Given the description of an element on the screen output the (x, y) to click on. 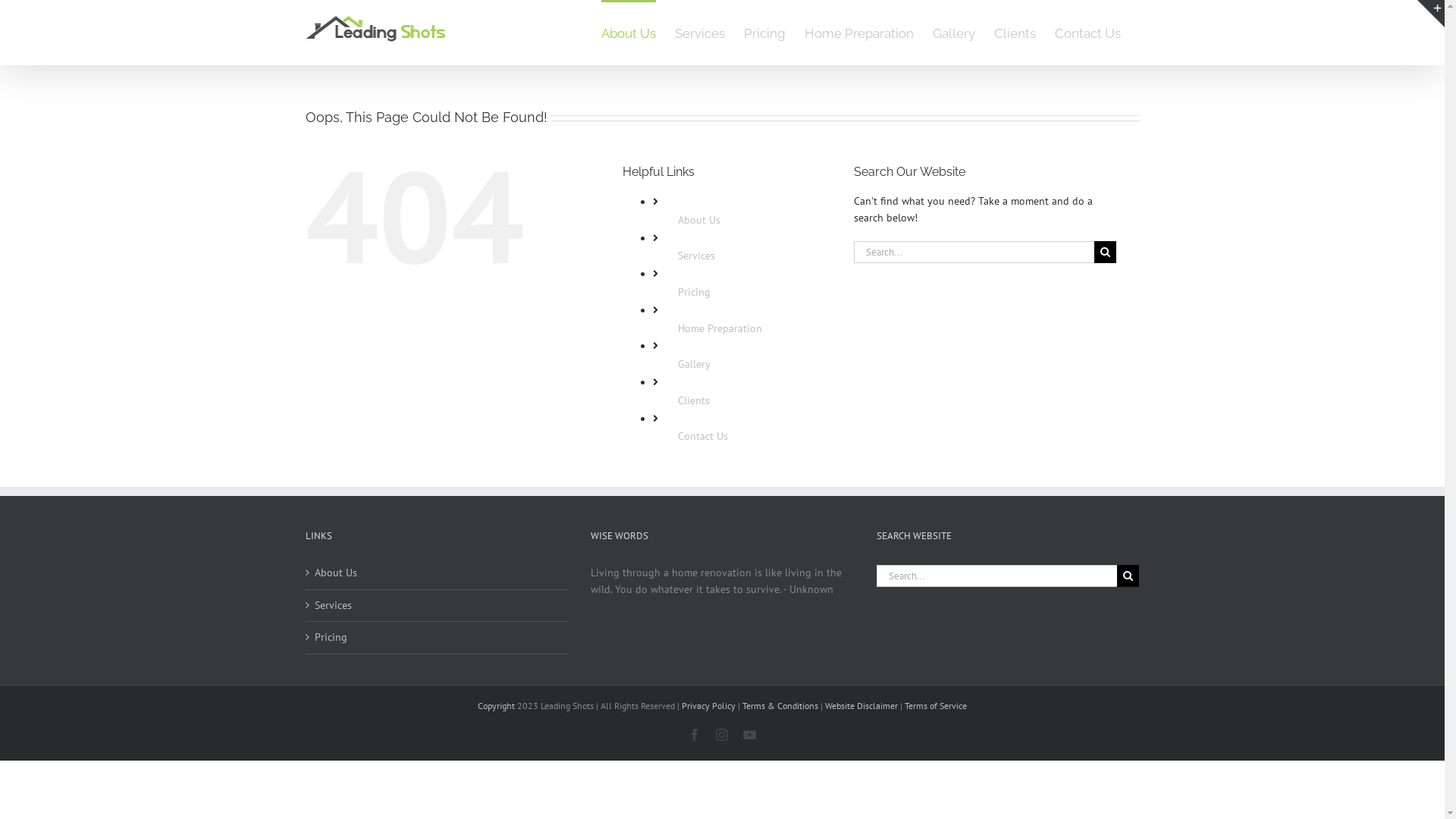
Services Element type: text (696, 255)
Gallery Element type: text (693, 363)
Privacy Policy Element type: text (708, 705)
About Us Element type: text (698, 219)
Clients Element type: text (693, 400)
Contact Us Element type: text (702, 435)
Contact Us Element type: text (1087, 32)
Pricing Element type: text (763, 32)
Gallery Element type: text (953, 32)
Website Disclaimer Element type: text (861, 705)
Pricing Element type: text (693, 291)
Clients Element type: text (1014, 32)
Pricing Element type: text (436, 637)
Copyright Element type: text (495, 705)
About Us Element type: text (627, 32)
Instagram Element type: text (721, 734)
Home Preparation Element type: text (858, 32)
Services Element type: text (436, 605)
Facebook Element type: text (694, 734)
Terms of Service Element type: text (935, 705)
Toggle Sliding Bar Area Element type: text (1430, 13)
YouTube Element type: text (749, 734)
Terms & Conditions Element type: text (780, 705)
Services Element type: text (699, 32)
About Us Element type: text (436, 572)
Home Preparation Element type: text (719, 328)
